Given the description of an element on the screen output the (x, y) to click on. 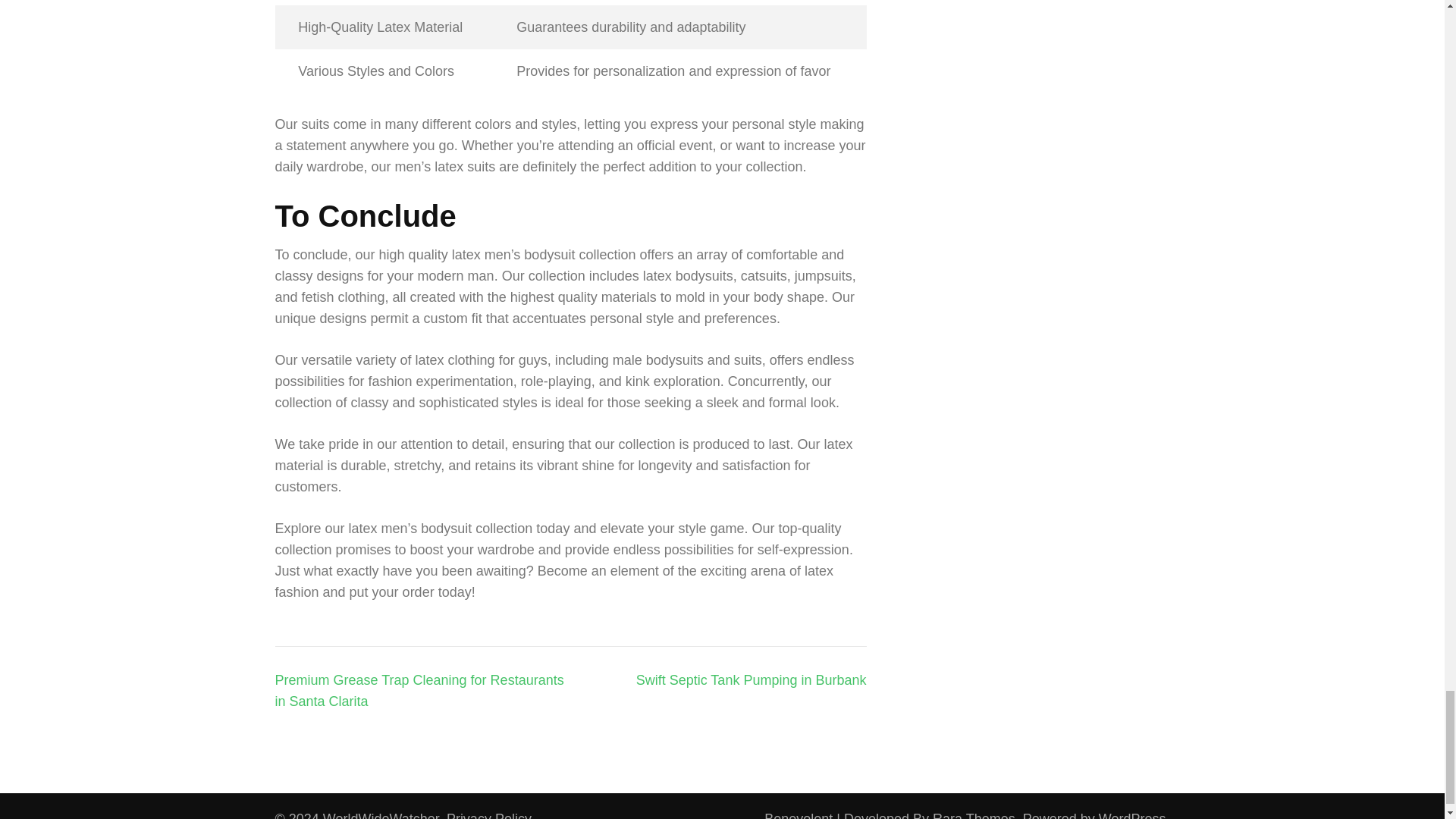
Swift Septic Tank Pumping in Burbank (751, 679)
